Given the description of an element on the screen output the (x, y) to click on. 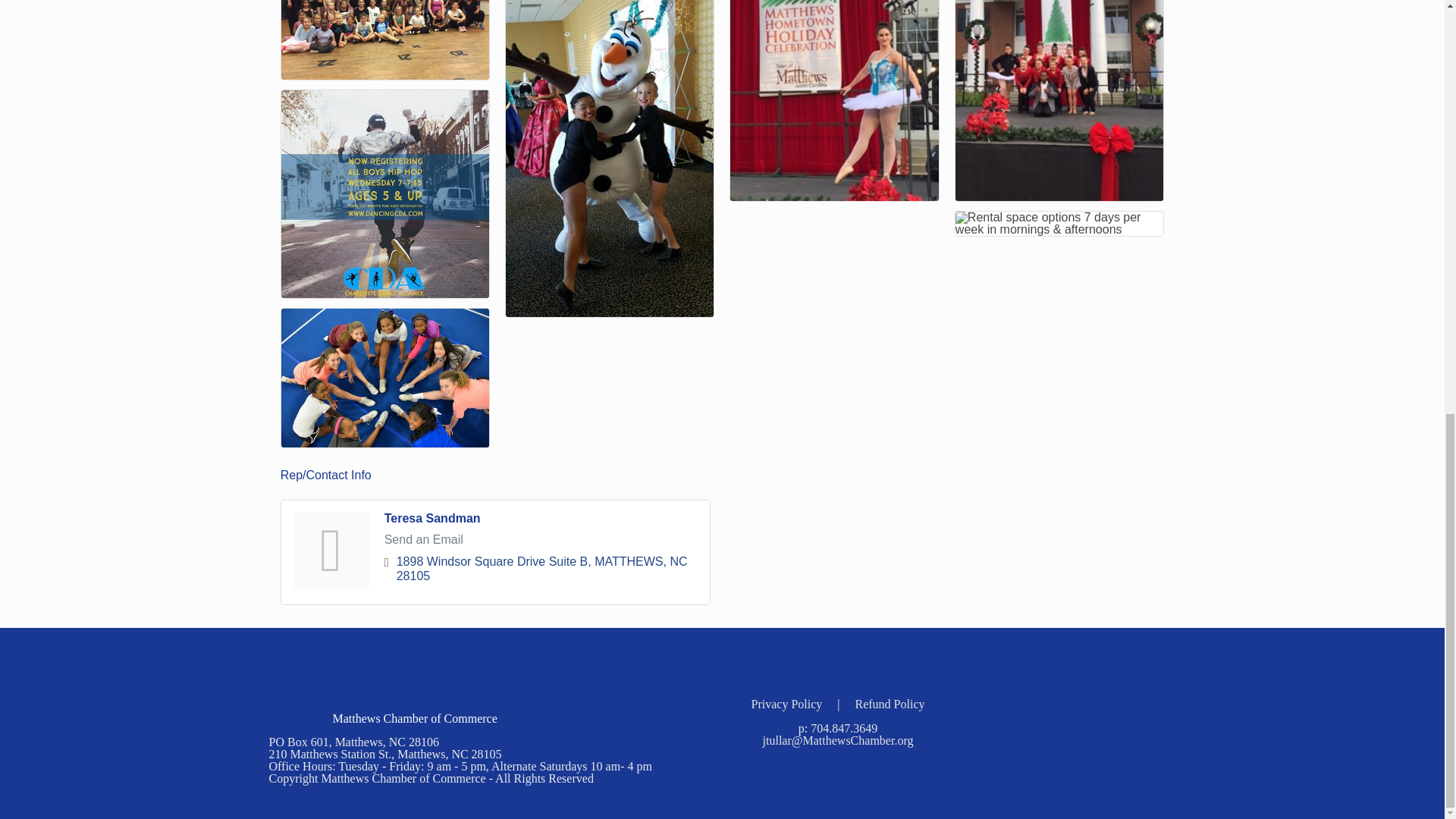
Gymnastics for ages 2.5 yrs and up. Allstar Cheer offered (385, 377)
Charlotte Dance Alliance competition team  (385, 39)
